Given the description of an element on the screen output the (x, y) to click on. 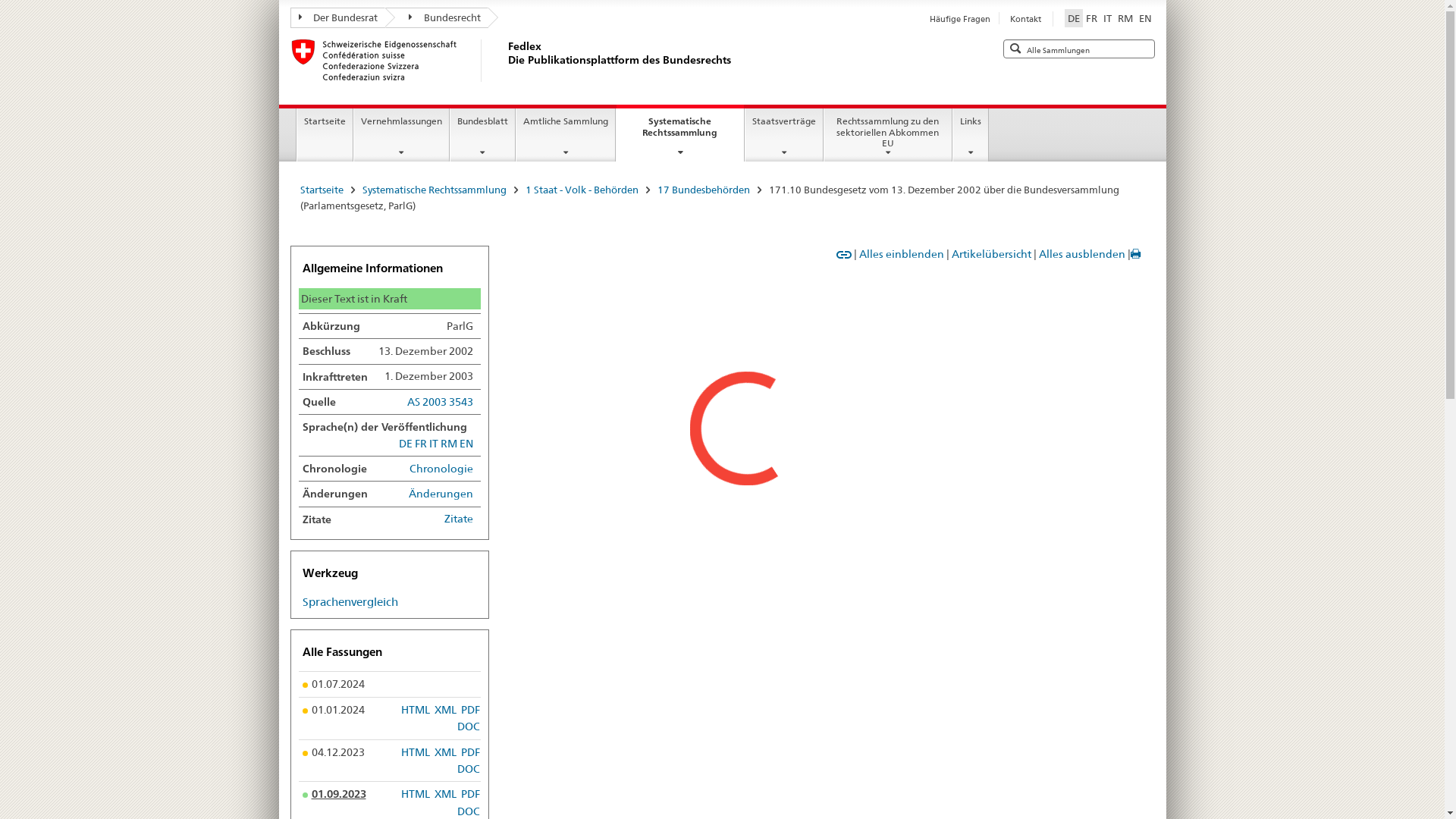
Kontakt Element type: text (1025, 18)
RM Element type: text (1124, 18)
Startseite Element type: text (324, 134)
Startseite Element type: text (323, 372)
Laufende Vernehmlassungen Element type: text (588, 410)
Abgeschlossene Vernehmlassungen Element type: text (602, 429)
Ausgaben des Bundesblattes Element type: text (804, 391)
Startseite Element type: text (321, 189)
DE Element type: text (1073, 18)
Systematische Rechtssammlung Element type: text (434, 189)
Geplante Vernehmlassungen Element type: text (587, 391)
Bundesrecht Element type: text (436, 17)
EN Element type: text (1144, 18)
Zum Seitenanfang Element type: text (1094, 261)
Startseite Vernehmlassungen Element type: text (588, 372)
FR Element type: text (1091, 18)
Der Bundesrat Element type: text (337, 17)
Startseite BBl Element type: text (770, 372)
IT Element type: text (1106, 18)
